Given the description of an element on the screen output the (x, y) to click on. 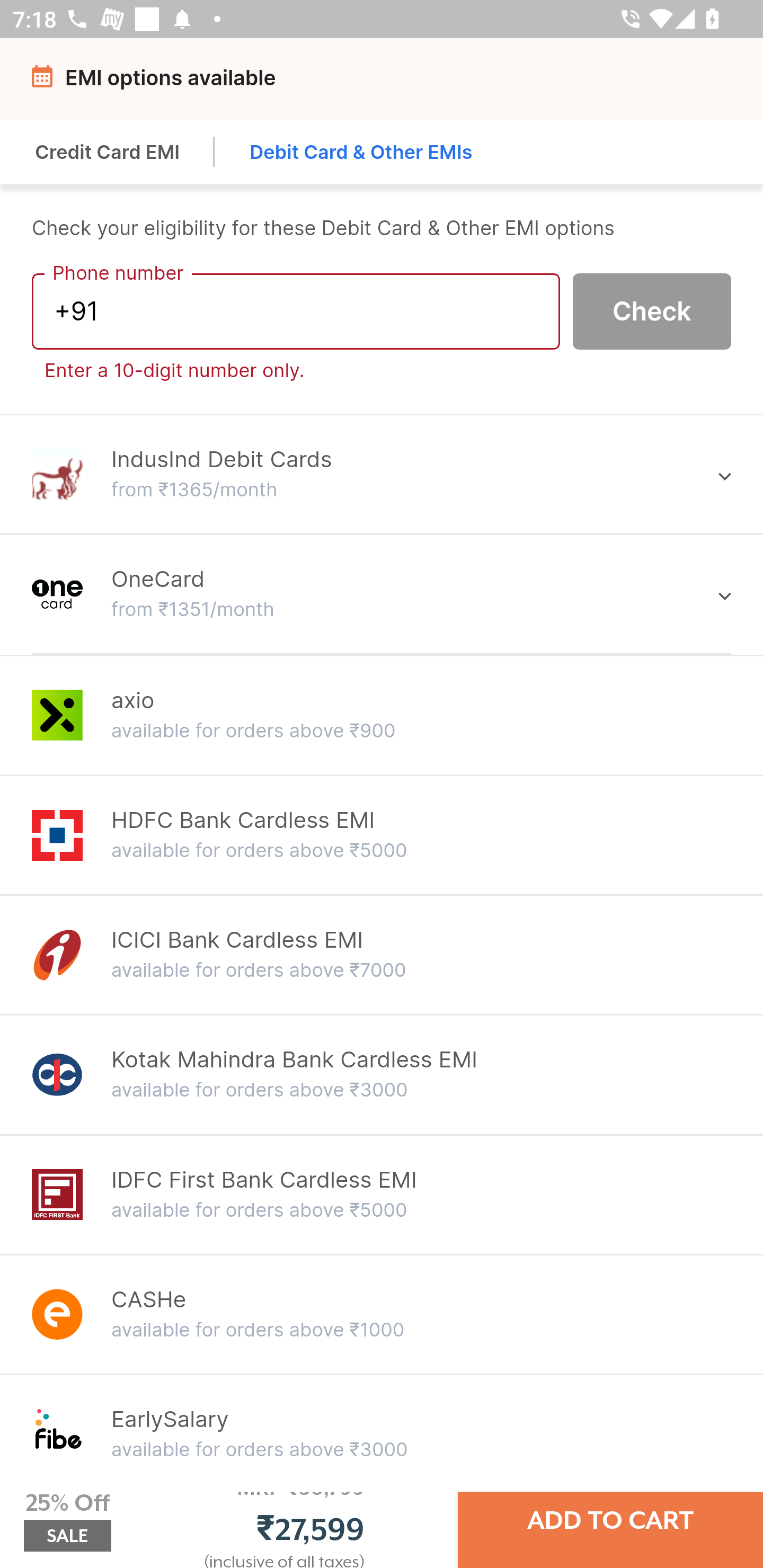
Navigate up (44, 82)
Credit Card EMI (107, 152)
Debit Card & Other EMIs (361, 152)
Check (651, 310)
OneCard OneCard from ₹1351/month (381, 593)
ADD TO CART (610, 1520)
